Given the description of an element on the screen output the (x, y) to click on. 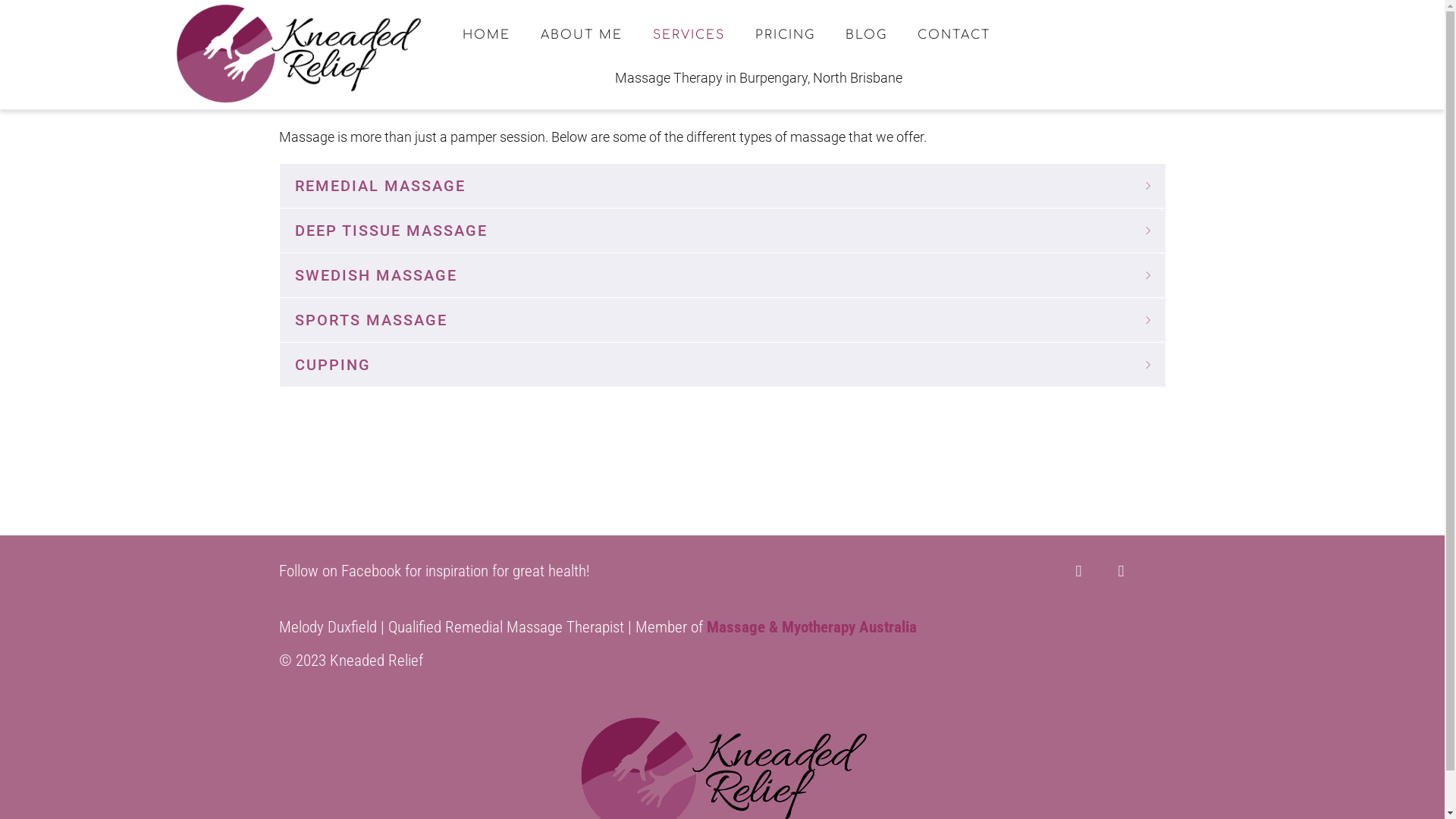
SWEDISH MASSAGE Element type: text (721, 275)
ABOUT ME Element type: text (581, 34)
Massage & Myotherapy Australia Element type: text (811, 627)
HOME Element type: text (486, 34)
SPORTS MASSAGE Element type: text (721, 320)
REMEDIAL MASSAGE Element type: text (721, 185)
DEEP TISSUE MASSAGE Element type: text (721, 230)
CONTACT Element type: text (953, 34)
SERVICES Element type: text (688, 34)
CUPPING Element type: text (721, 364)
PRICING Element type: text (784, 34)
BLOG Element type: text (866, 34)
